Given the description of an element on the screen output the (x, y) to click on. 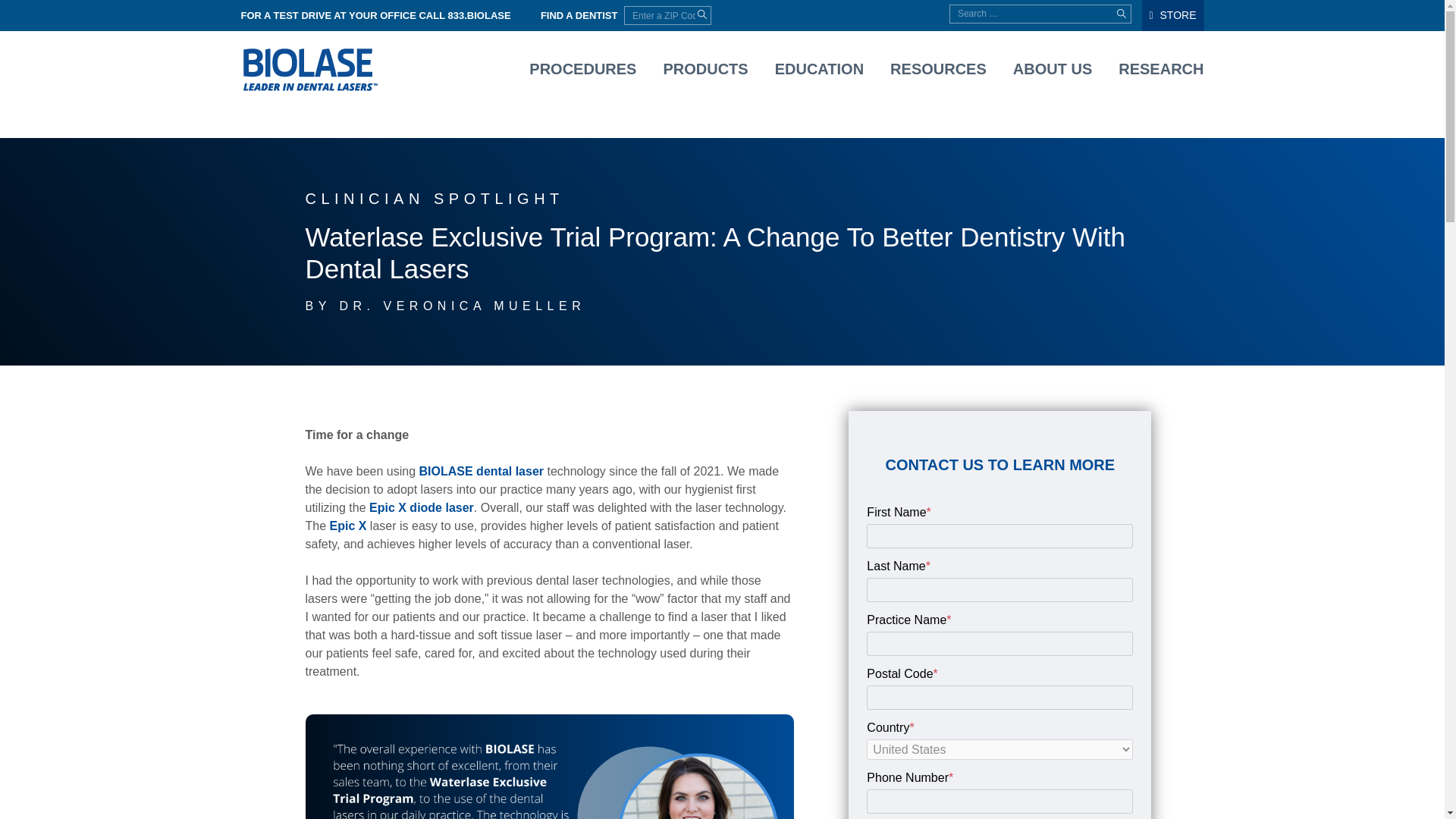
Search (1121, 13)
Search (1121, 13)
Search (702, 13)
Search (94, 15)
